Given the description of an element on the screen output the (x, y) to click on. 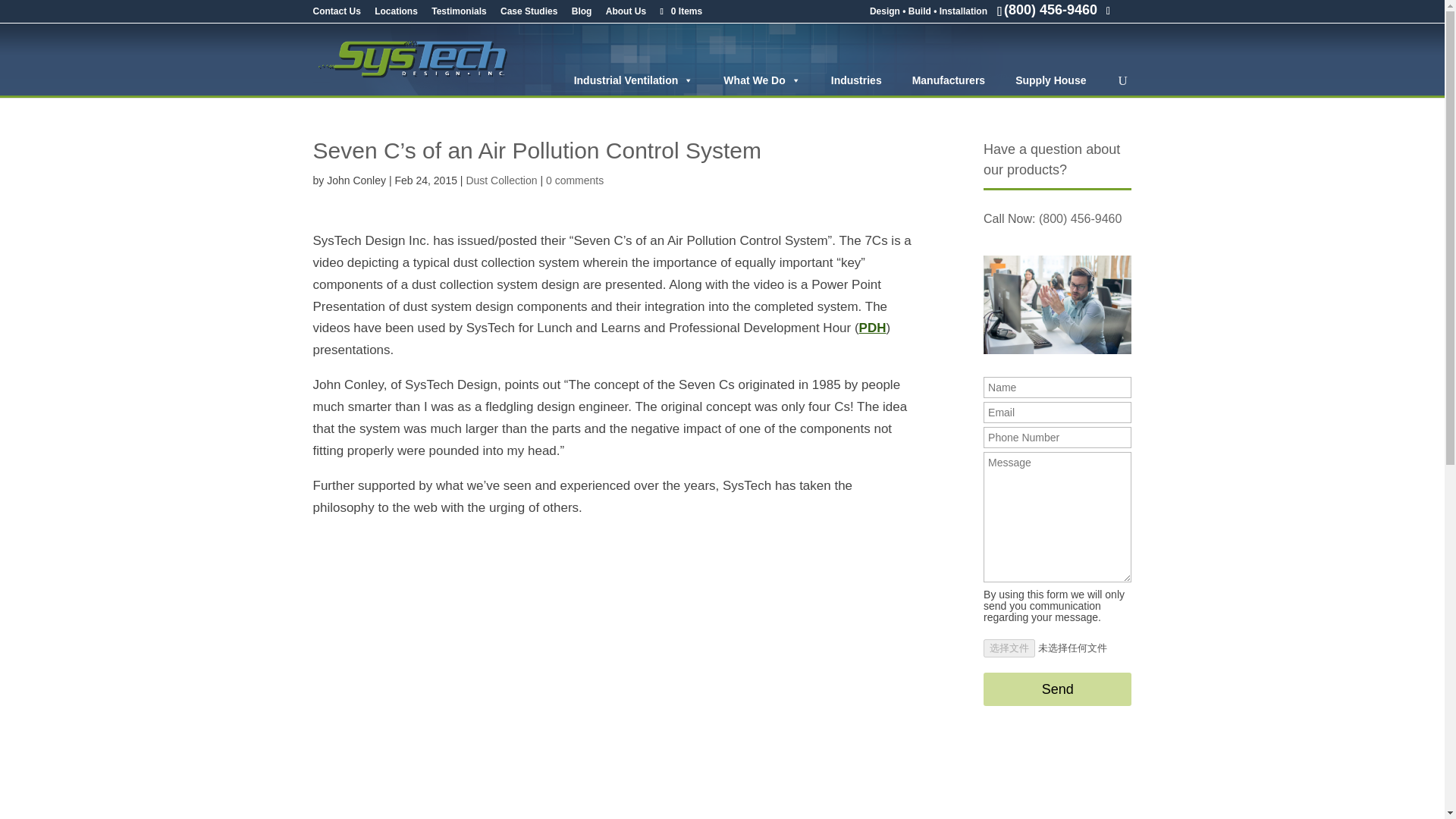
Contact Us (336, 14)
About Us (625, 14)
Testimonials (458, 14)
Case Studies (528, 14)
0 Items (679, 10)
Industrial Ventilation (634, 80)
Locations (395, 14)
Blog (582, 14)
